Given the description of an element on the screen output the (x, y) to click on. 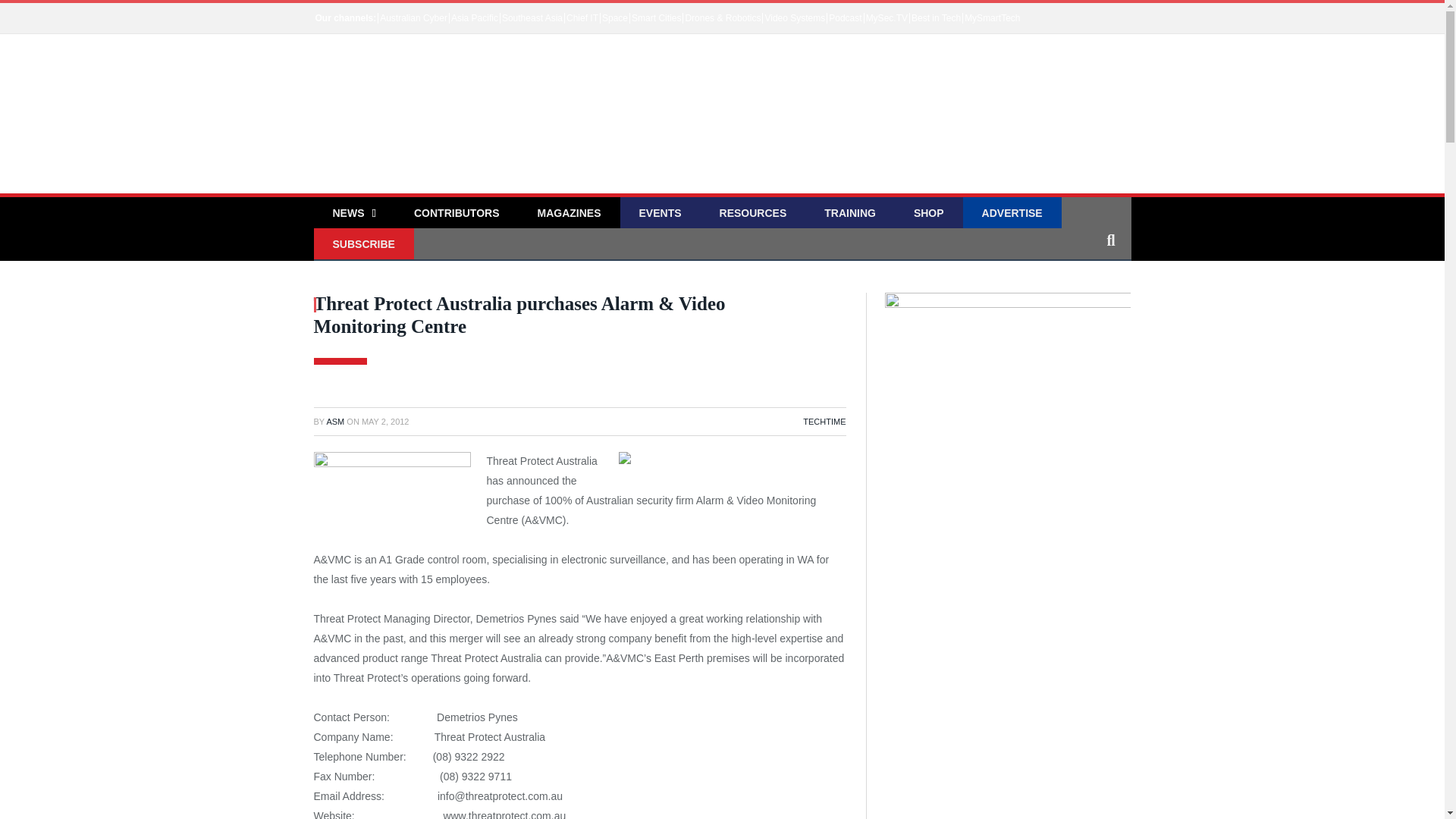
Southeast Asia (531, 18)
Posts by ASM (334, 420)
Australian Cyber (412, 18)
Australian Security Magazine (446, 122)
RESOURCES (753, 213)
Video Systems (794, 18)
MySmartTech (992, 18)
SHOP (928, 213)
SUBSCRIBE (363, 244)
CONTRIBUTORS (456, 213)
